Given the description of an element on the screen output the (x, y) to click on. 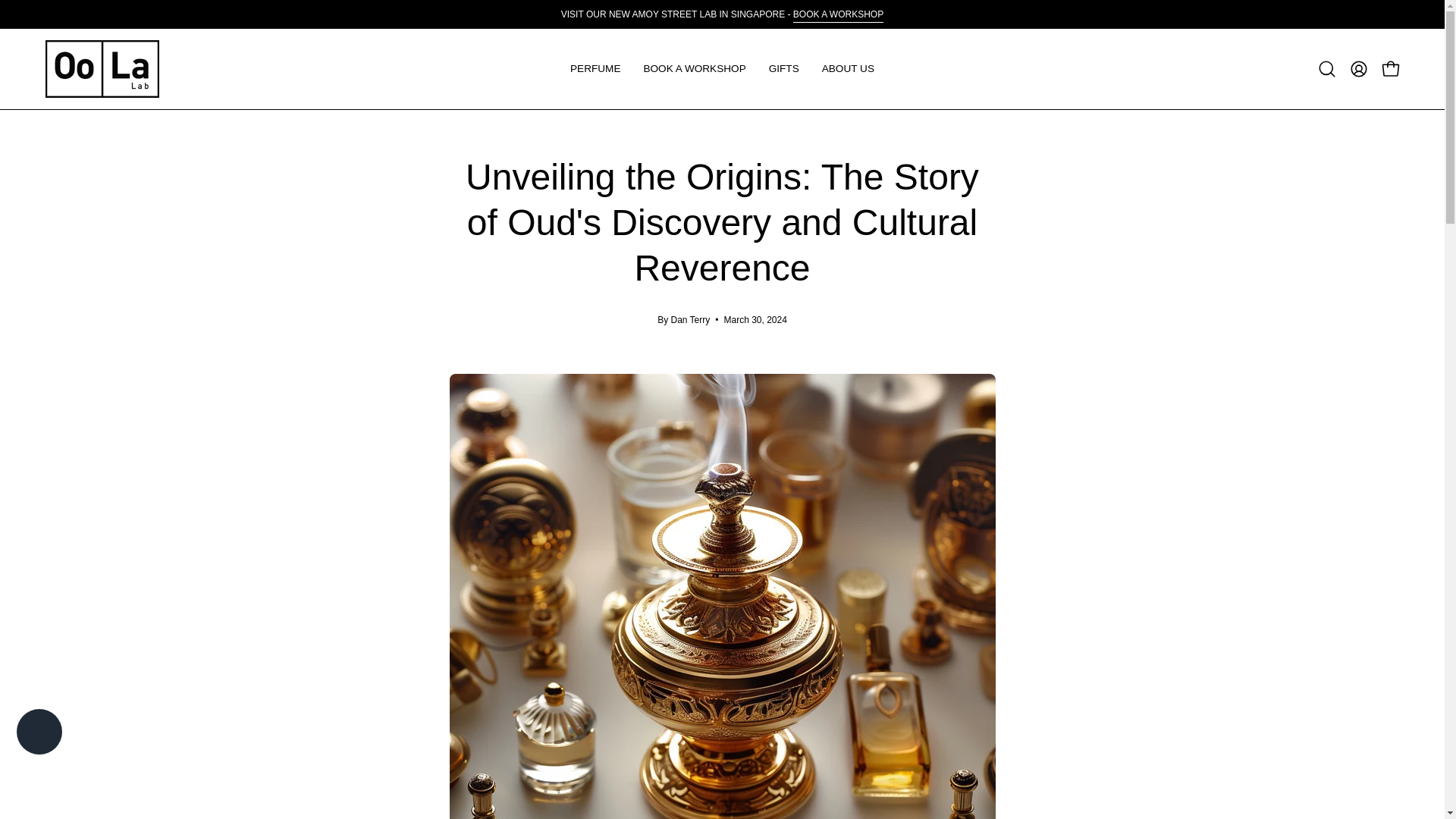
View Oo La Lab on Instagram (238, 725)
Open search bar (1326, 69)
BOOK A WORKSHOP (838, 14)
View Oo La Lab on Tiktok (273, 725)
PERFUME (595, 68)
BOOK A WORKSHOP (694, 68)
ABOUT US (847, 68)
MY ACCOUNT (1358, 69)
OPEN CART (1390, 69)
Singapore Workshops (838, 14)
